Given the description of an element on the screen output the (x, y) to click on. 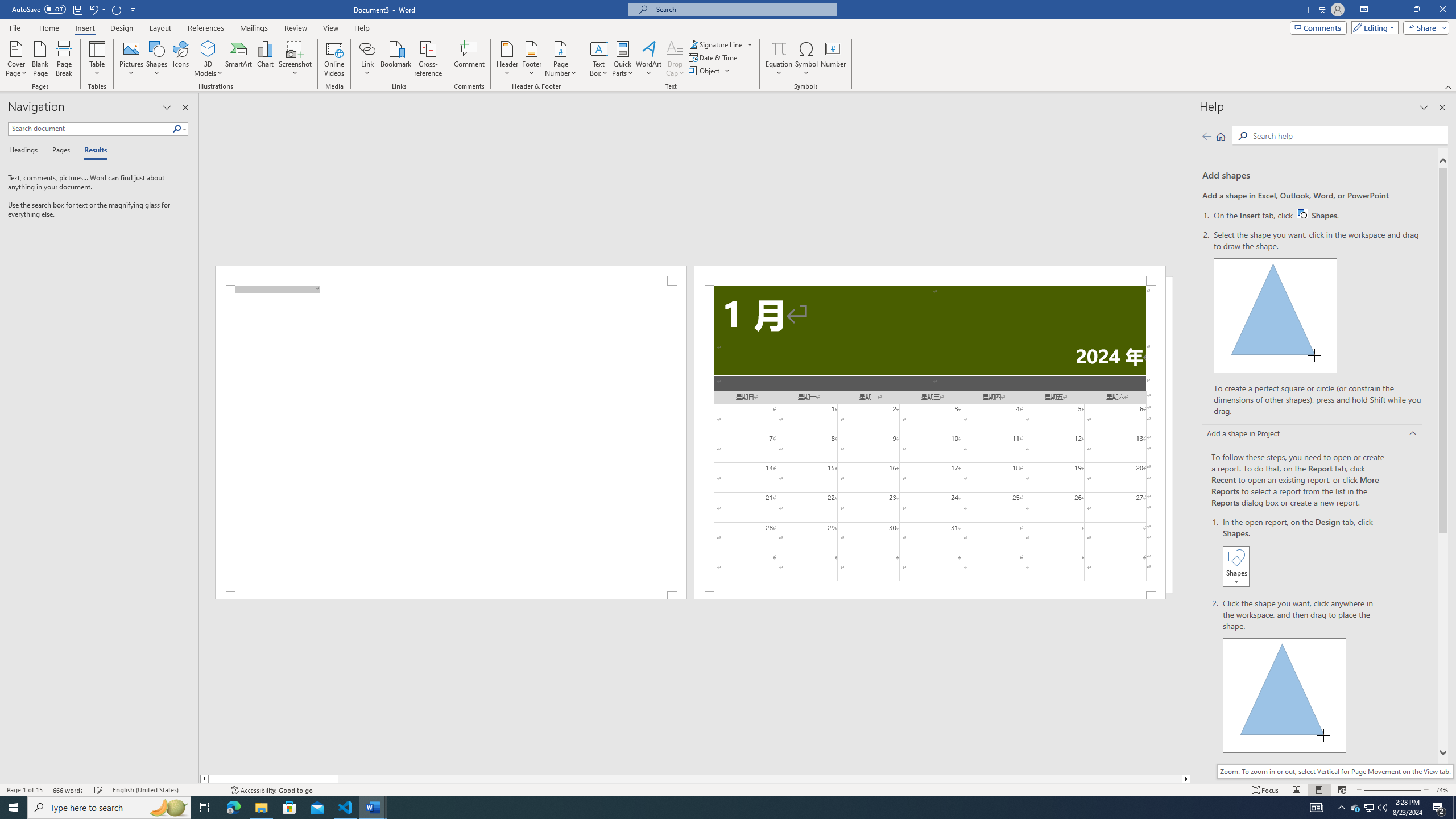
Microsoft search (742, 9)
Header (507, 58)
Chart... (265, 58)
WordArt (648, 58)
Undo New Page (92, 9)
Table (97, 58)
Text Box (598, 58)
